Given the description of an element on the screen output the (x, y) to click on. 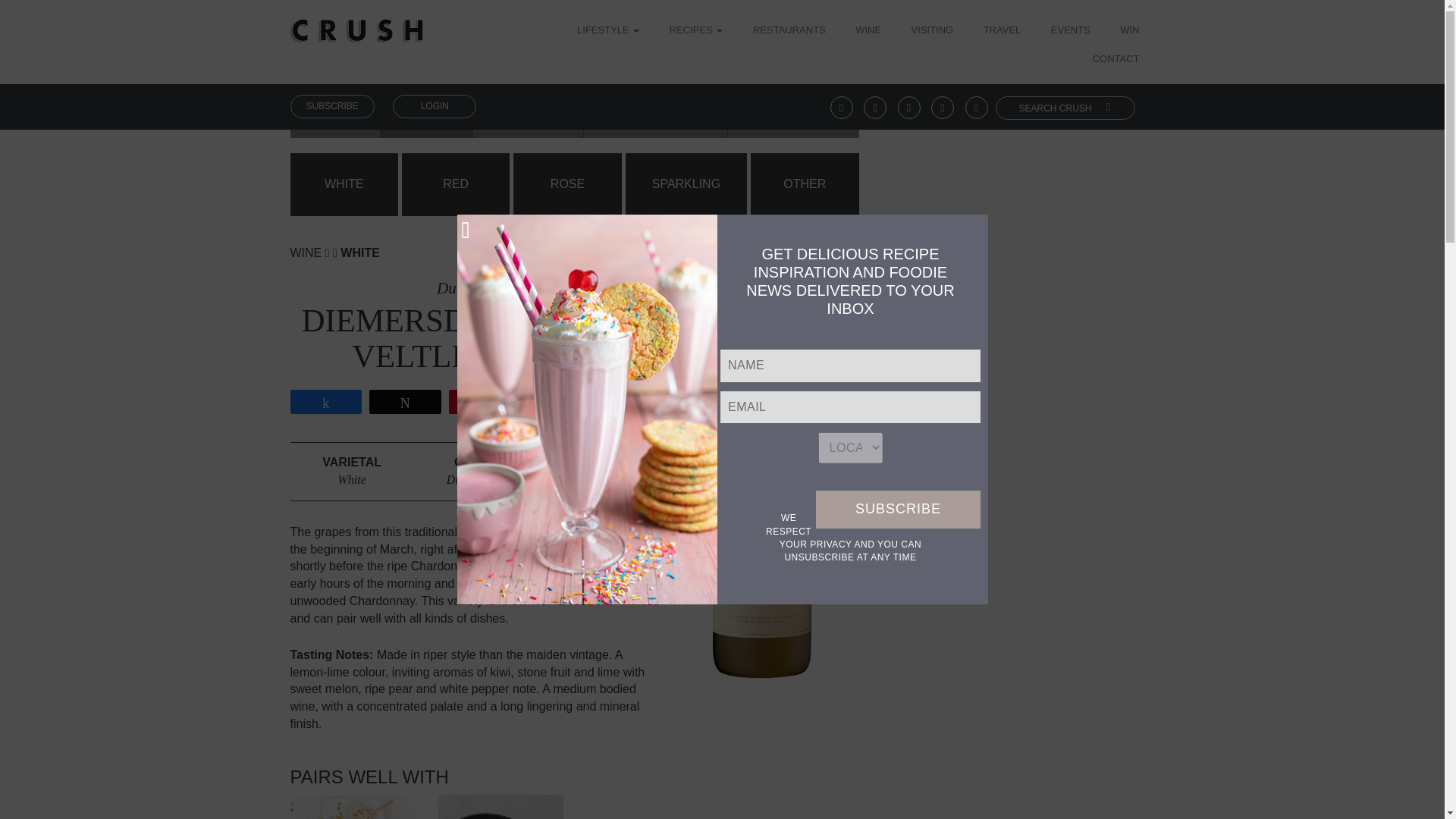
RESTAURANTS (789, 31)
Crush Mag Online (355, 24)
CONTACT (1116, 59)
WINE (868, 31)
TRAVEL (1002, 31)
Subscribe (897, 509)
RECIPES (696, 31)
WIN (1129, 31)
LIFESTYLE (613, 31)
VISITING (932, 31)
EVENTS (1070, 31)
